Given the description of an element on the screen output the (x, y) to click on. 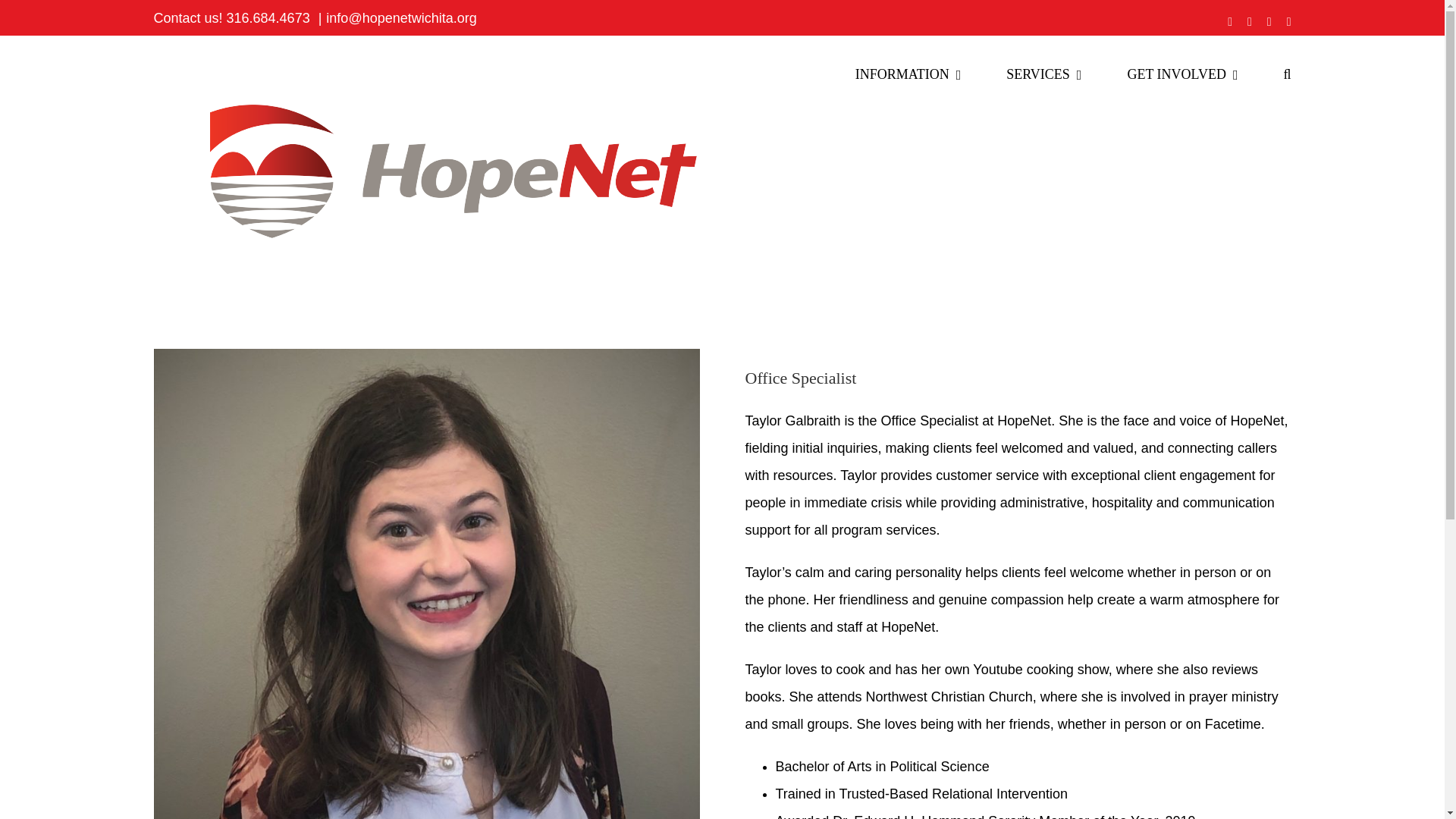
INFORMATION (908, 74)
GET INVOLVED (1181, 74)
SERVICES (1043, 74)
